Given the description of an element on the screen output the (x, y) to click on. 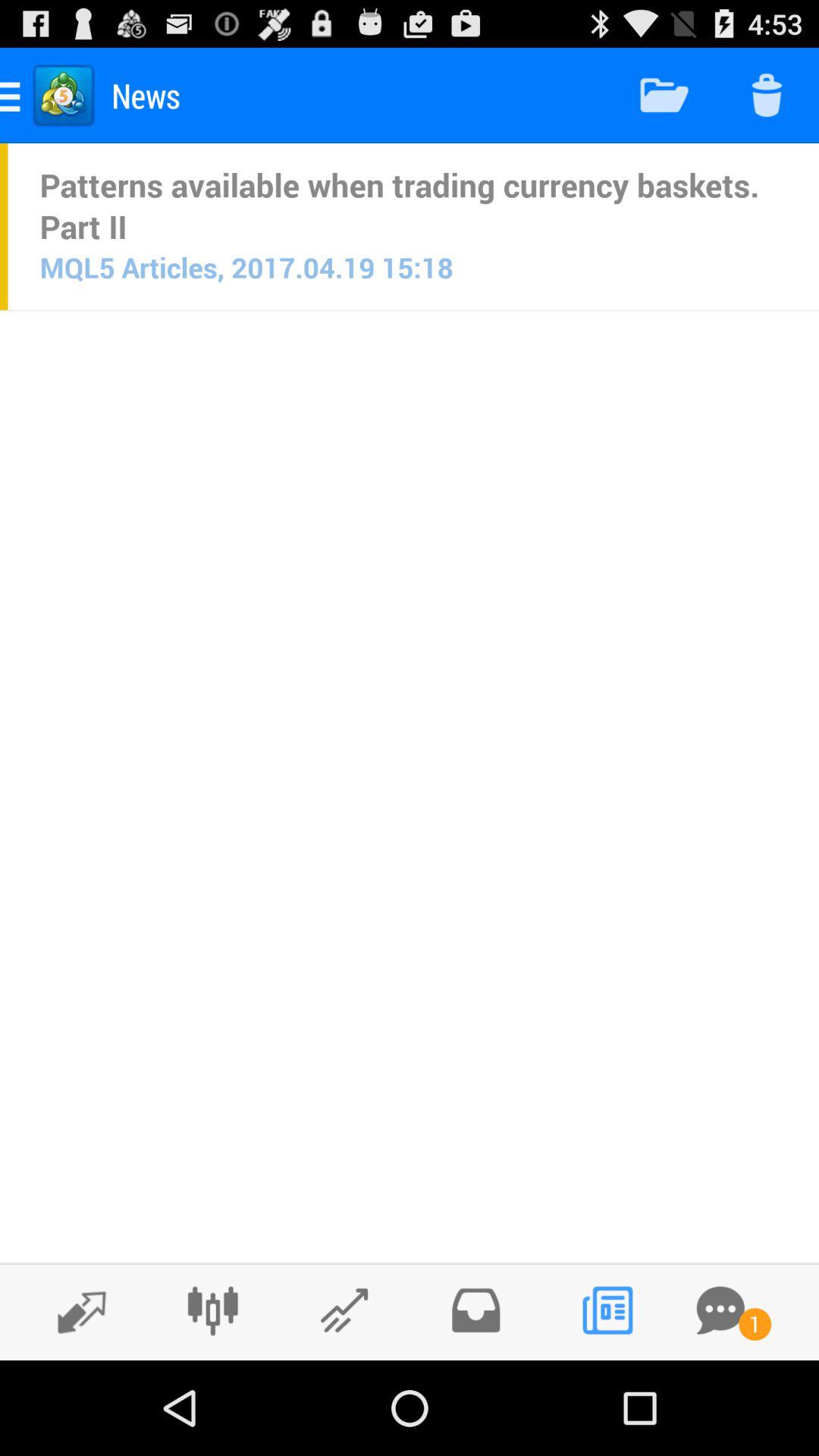
open stock graphs (344, 1310)
